Given the description of an element on the screen output the (x, y) to click on. 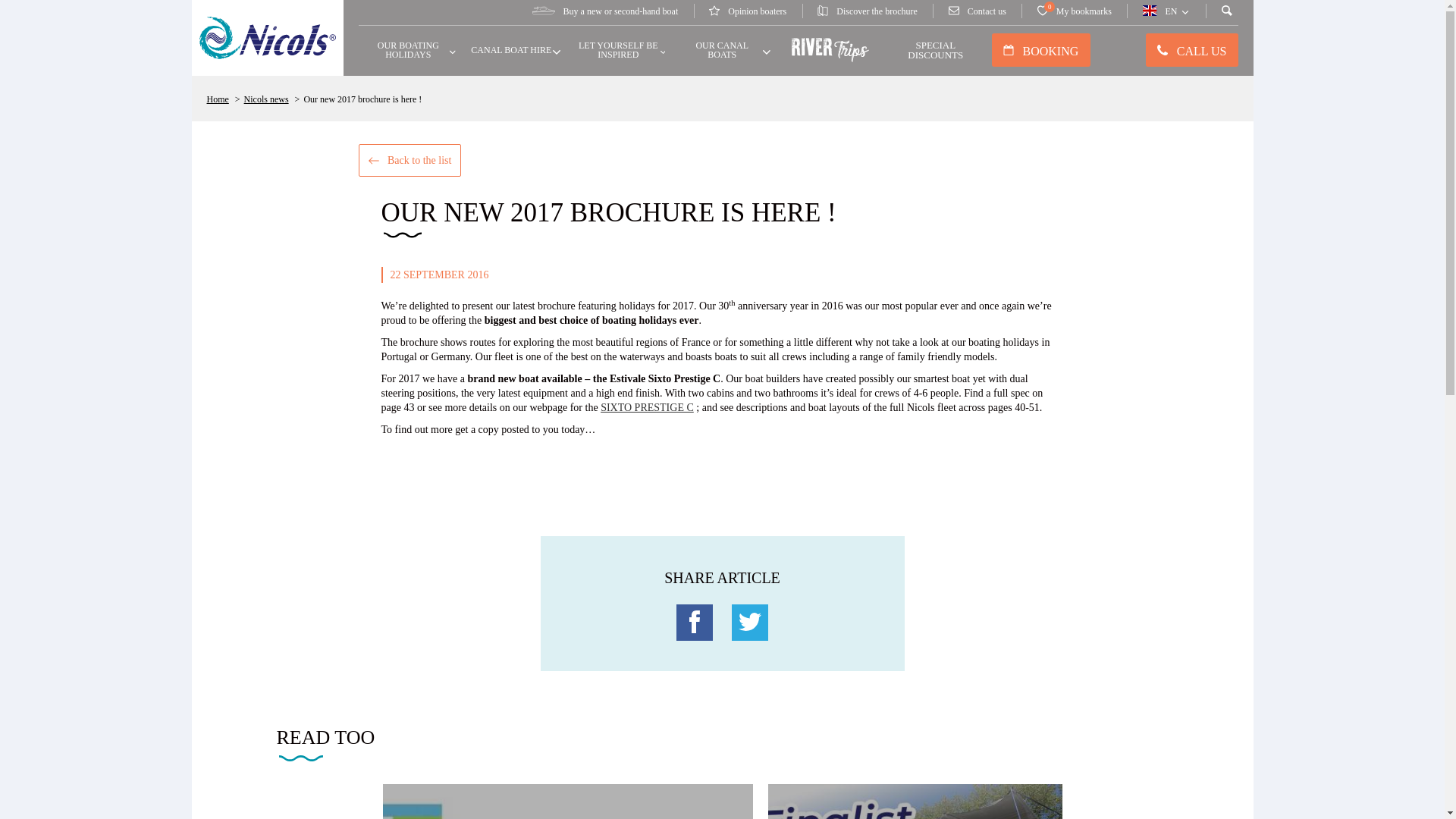
Discover the brochure (867, 10)
Contact us (977, 10)
Buy a new or second-hand boat (605, 10)
EN (1165, 10)
Opinion boaters (747, 10)
OUR BOATING HOLIDAYS (1074, 10)
